Given the description of an element on the screen output the (x, y) to click on. 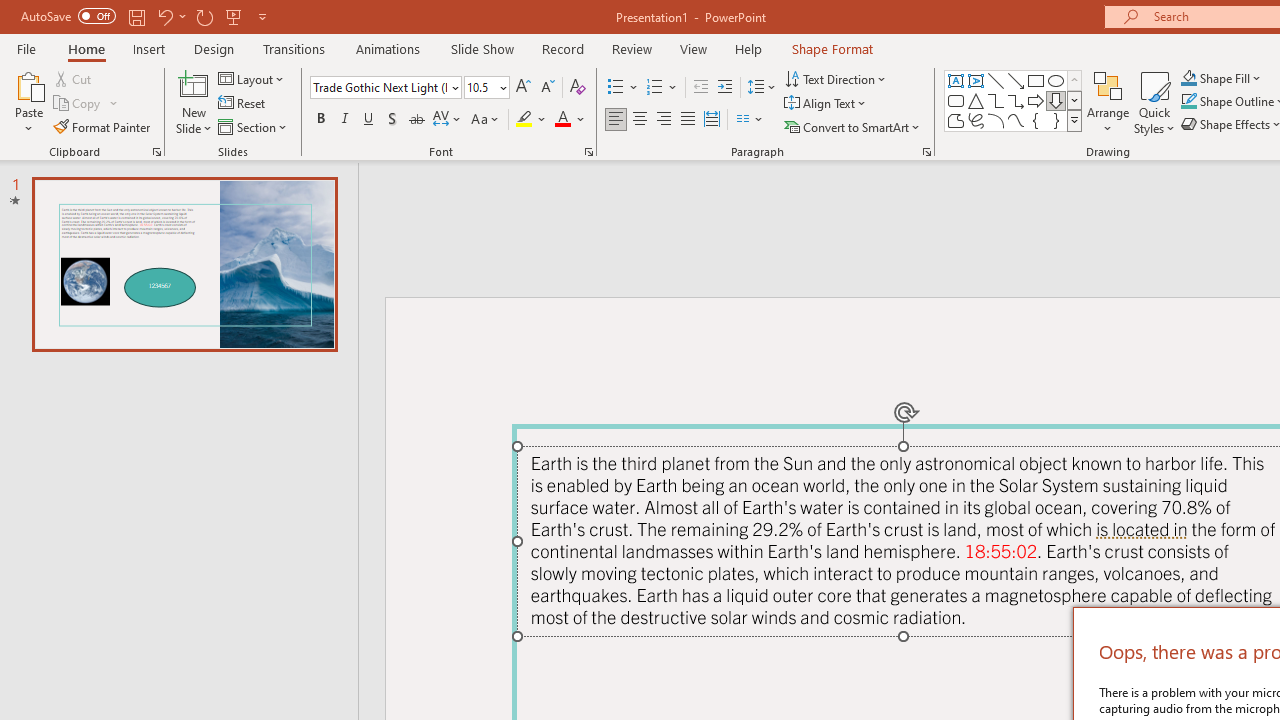
Shape Fill (1221, 78)
Font Size (480, 87)
Open (502, 87)
Row up (1074, 79)
Numbering (654, 87)
Italic (344, 119)
Class: NetUIImage (1075, 120)
Text Highlight Color Yellow (524, 119)
Line (995, 80)
Line Spacing (762, 87)
Strikethrough (416, 119)
Distributed (712, 119)
